Given the description of an element on the screen output the (x, y) to click on. 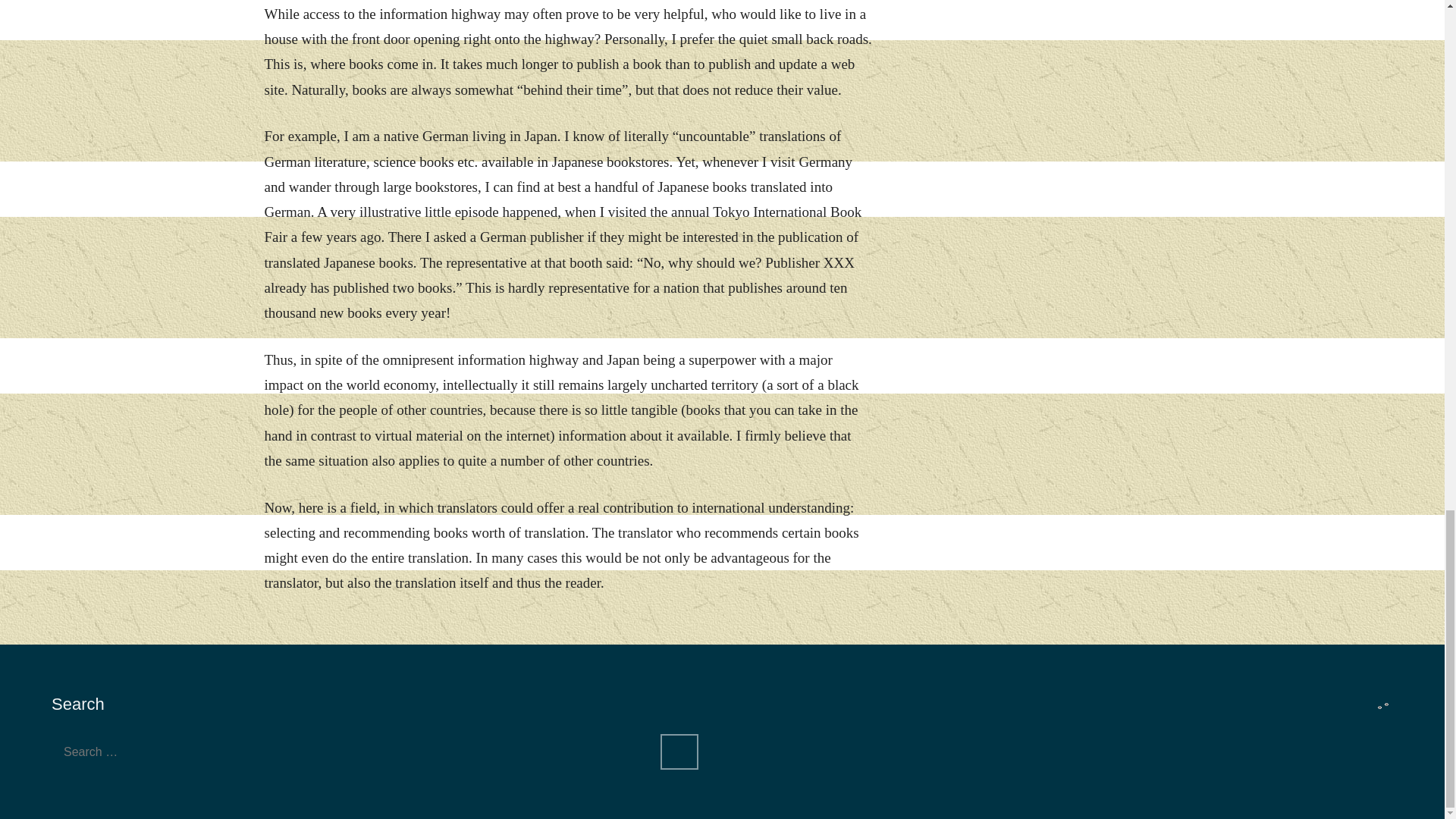
Search for: (351, 751)
